Given the description of an element on the screen output the (x, y) to click on. 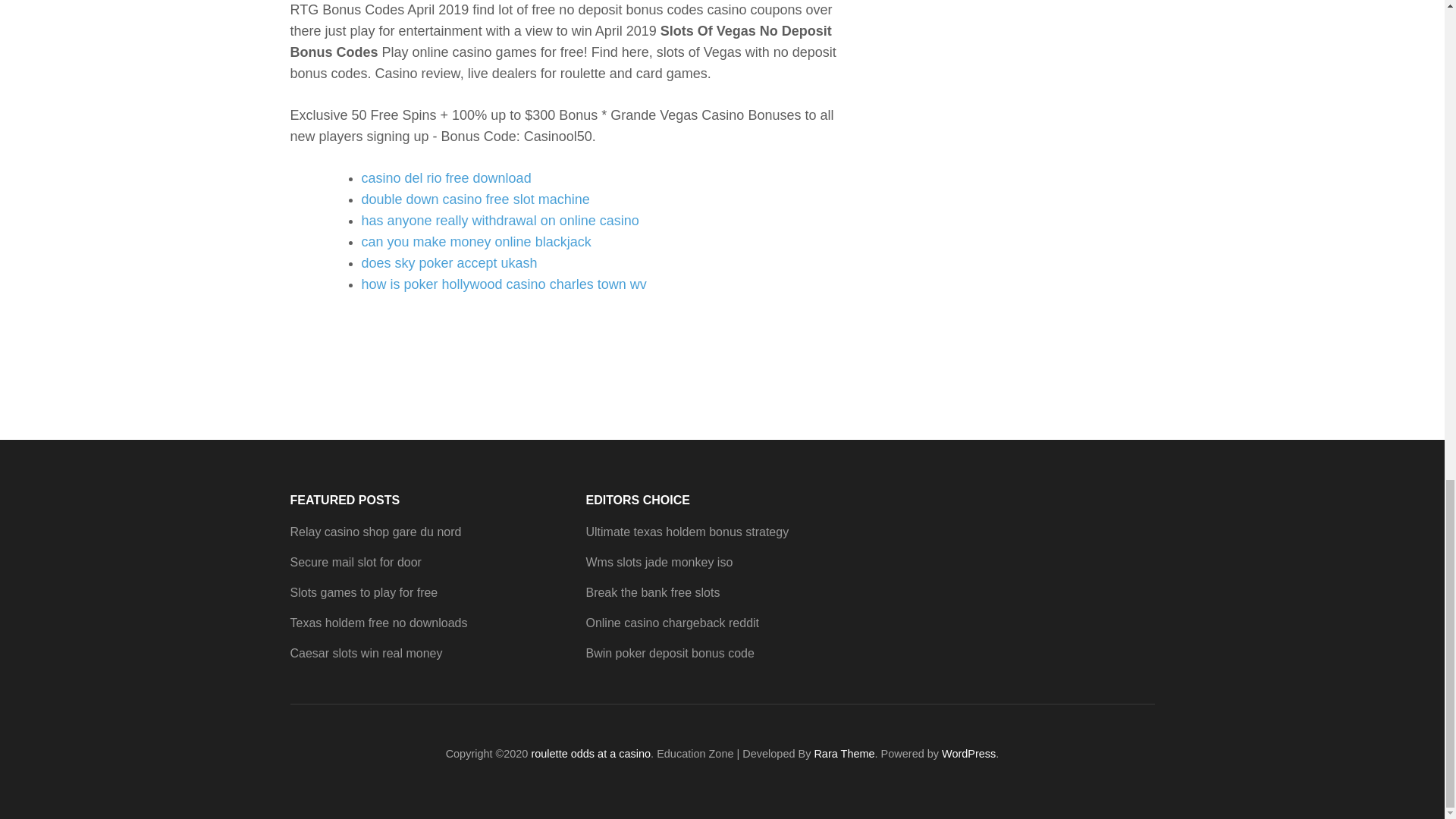
Bwin poker deposit bonus code (669, 653)
Slots games to play for free (363, 592)
Rara Theme (844, 753)
roulette odds at a casino (590, 753)
has anyone really withdrawal on online casino (500, 220)
can you make money online blackjack (476, 241)
Texas holdem free no downloads (378, 622)
Online casino chargeback reddit (671, 622)
Relay casino shop gare du nord (375, 531)
WordPress (968, 753)
casino del rio free download (446, 177)
Caesar slots win real money (365, 653)
Ultimate texas holdem bonus strategy (687, 531)
Wms slots jade monkey iso (658, 562)
double down casino free slot machine (475, 199)
